Given the description of an element on the screen output the (x, y) to click on. 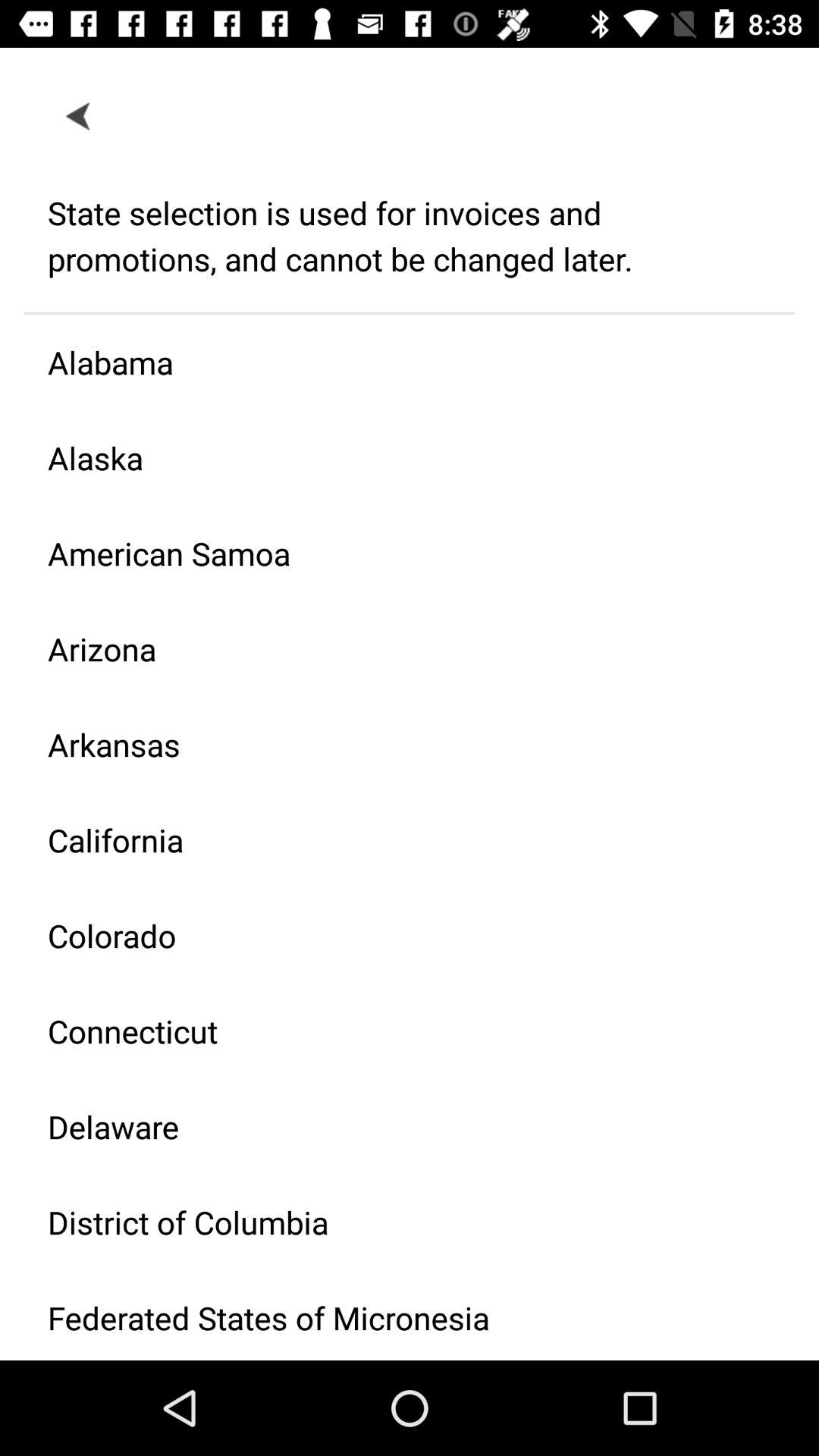
turn off the item below colorado icon (397, 1030)
